Given the description of an element on the screen output the (x, y) to click on. 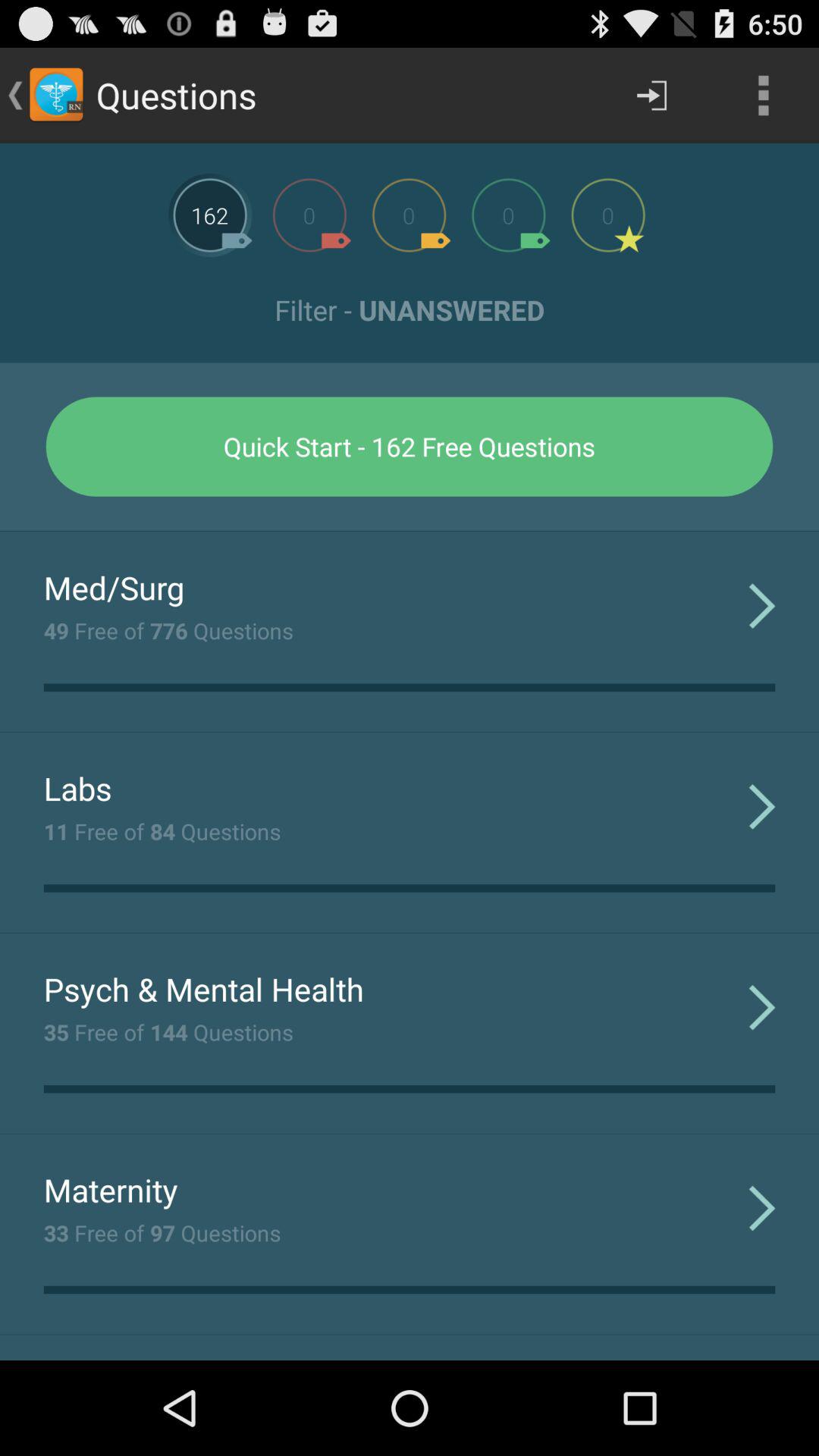
turn on the maternity app (110, 1189)
